Given the description of an element on the screen output the (x, y) to click on. 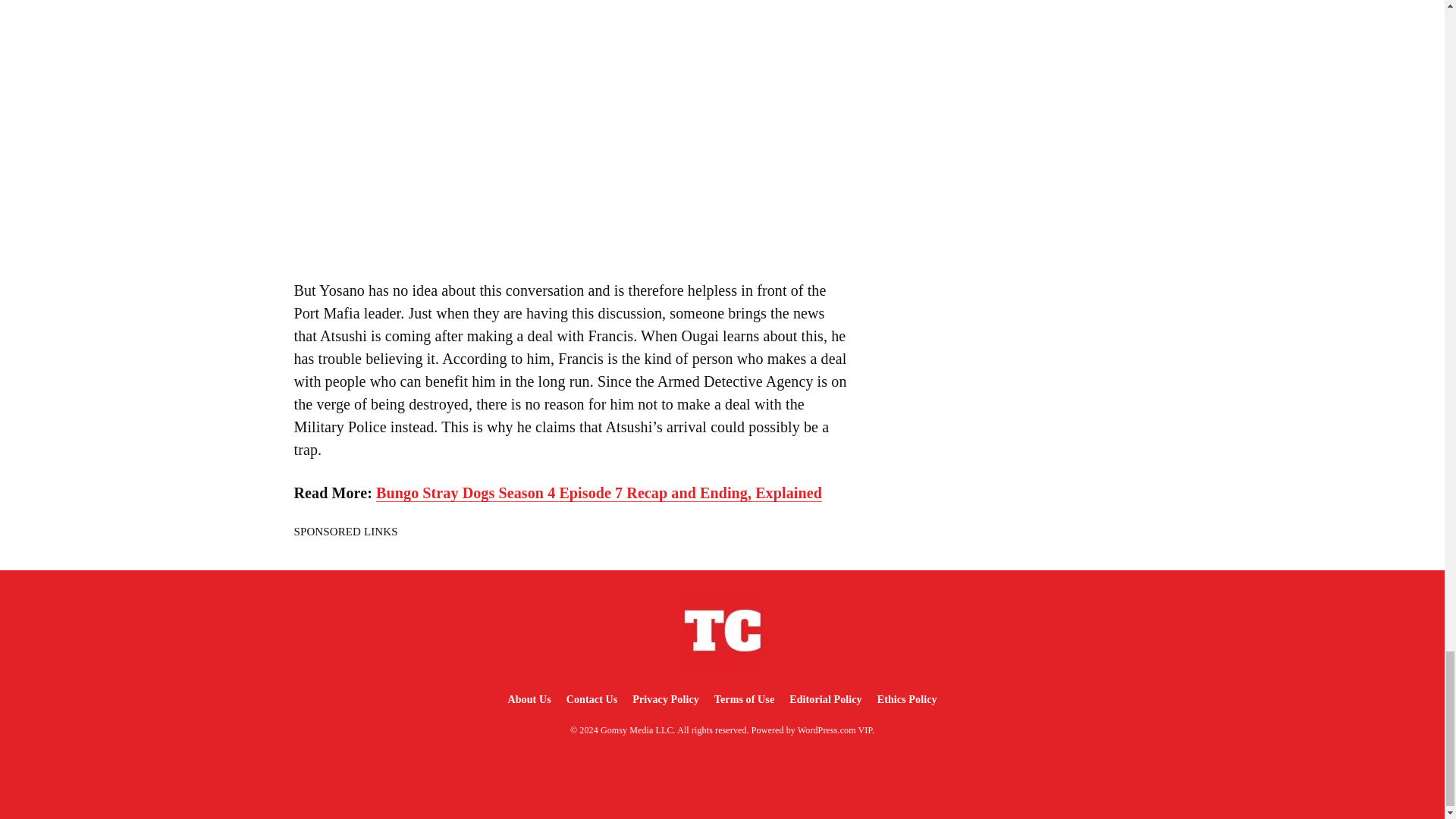
About Us (528, 699)
Contact Us (592, 699)
Editorial Policy (825, 699)
Ethics Policy (906, 699)
Terms of Use (743, 699)
WordPress.com VIP (834, 729)
Privacy Policy (665, 699)
